Given the description of an element on the screen output the (x, y) to click on. 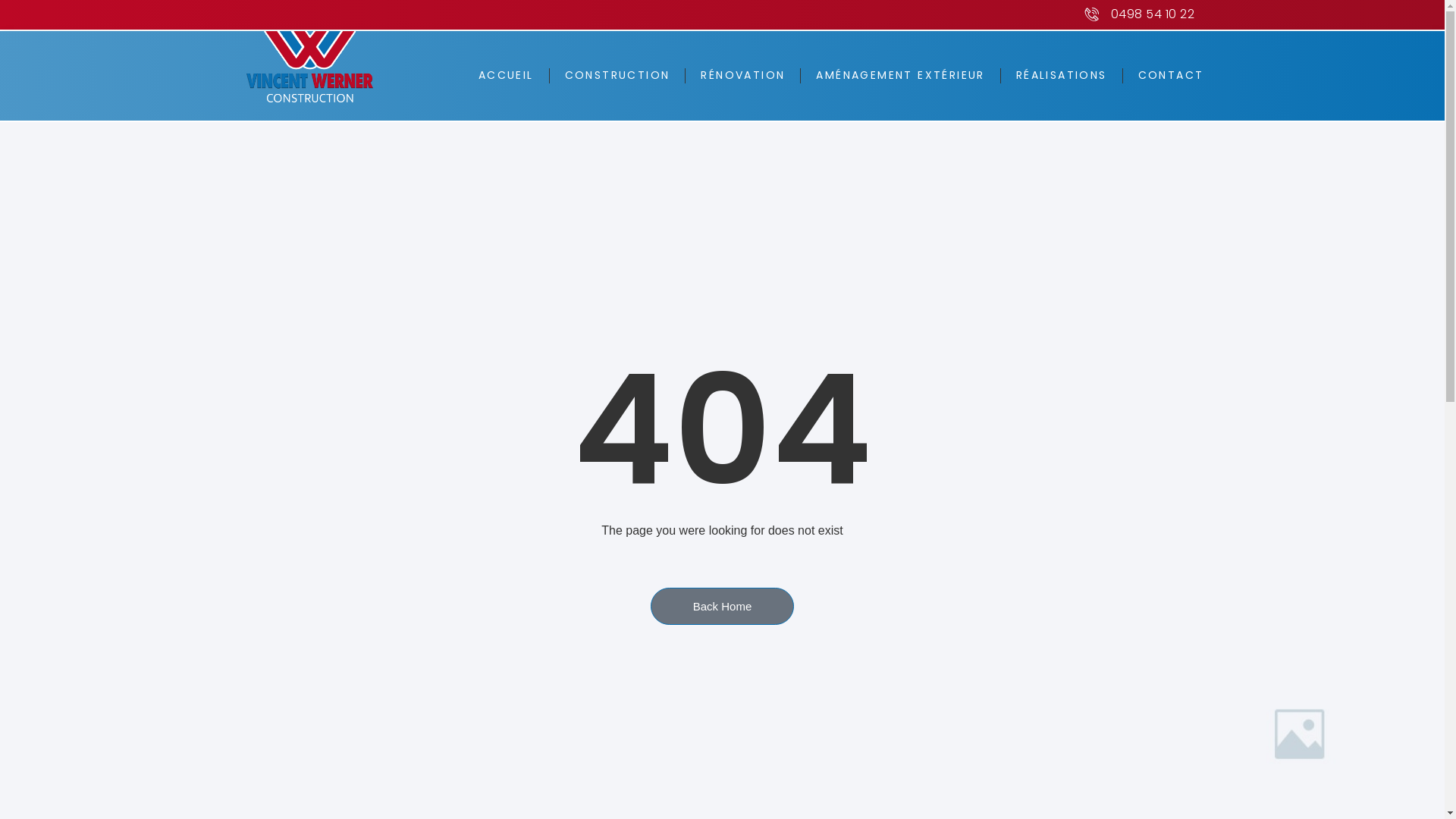
CONSTRUCTION Element type: text (617, 75)
CONTACT Element type: text (1171, 75)
ACCUEIL Element type: text (506, 75)
Back Home Element type: text (722, 605)
